Given the description of an element on the screen output the (x, y) to click on. 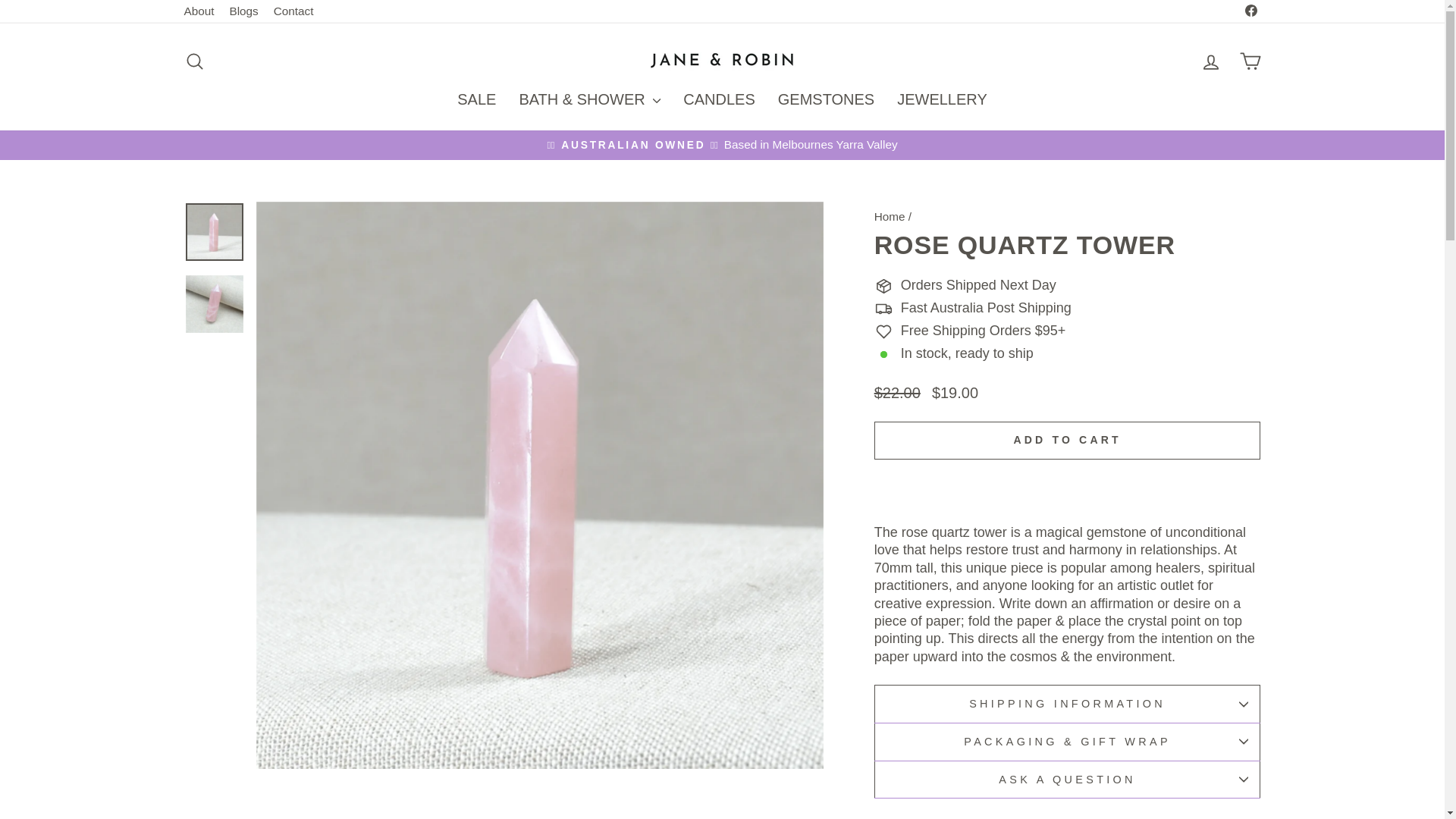
Back to the frontpage (1210, 61)
About (890, 215)
icon-search (198, 11)
Contact (194, 61)
GEMSTONES (293, 11)
account (826, 99)
Cart (1210, 61)
JEWELLERY (1249, 61)
